Given the description of an element on the screen output the (x, y) to click on. 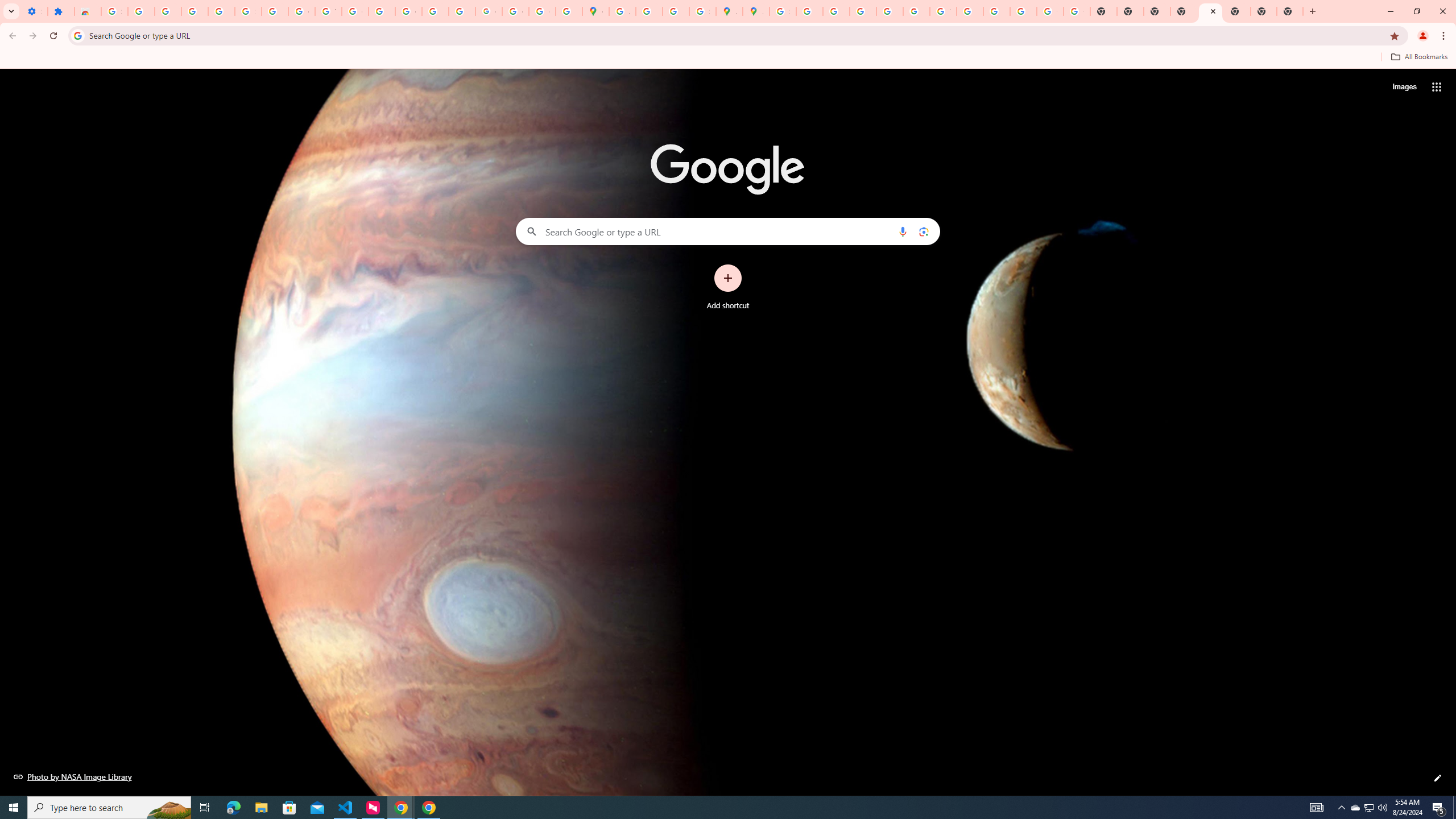
Photo by NASA Image Library (72, 776)
Google Account (301, 11)
Safety in Our Products - Google Safety Center (702, 11)
